Given the description of an element on the screen output the (x, y) to click on. 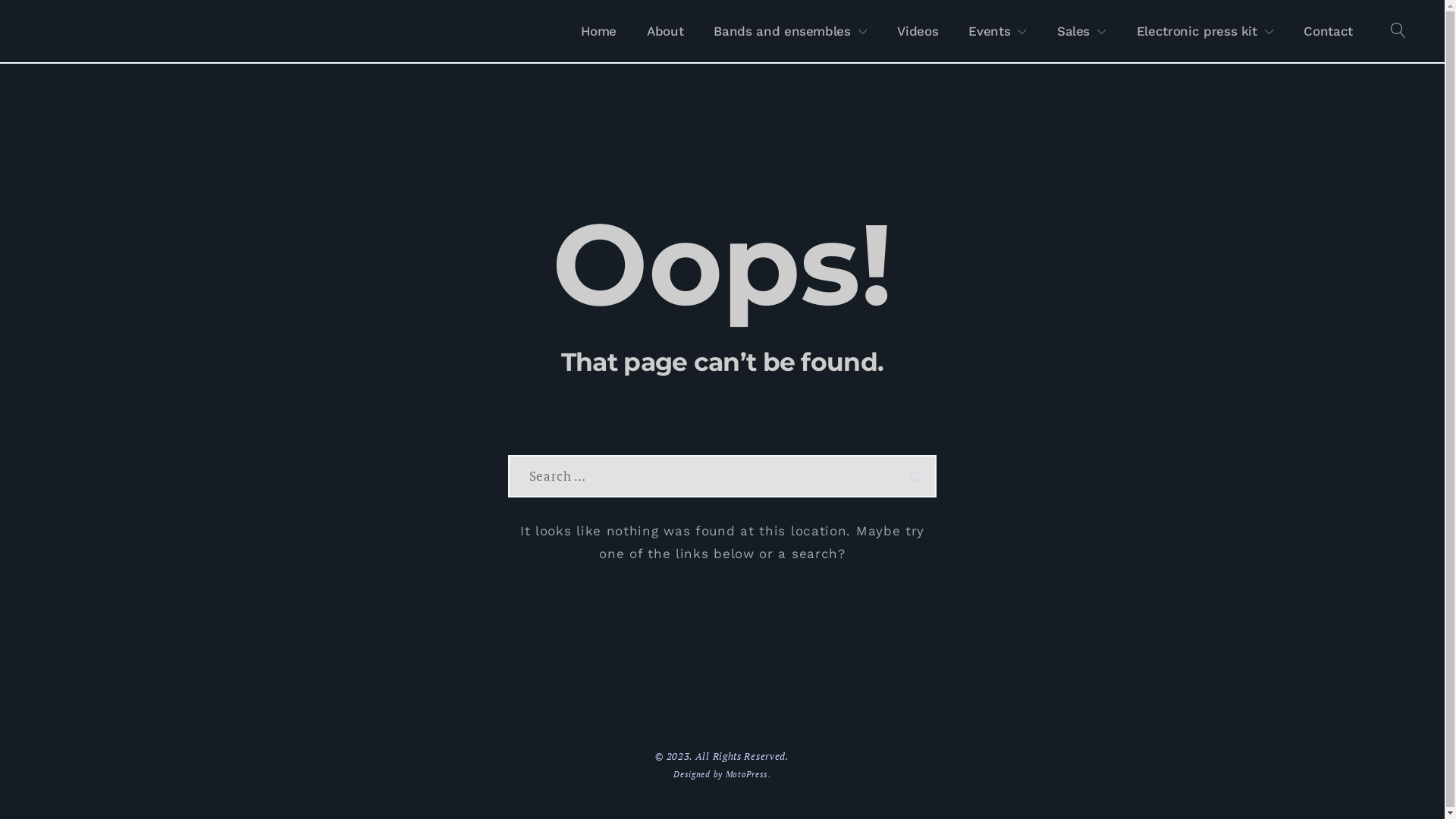
Electronic press kit Element type: text (1205, 30)
Bands and ensembles Element type: text (789, 30)
Home Element type: text (598, 30)
About Element type: text (664, 30)
OPEN SEARCH Element type: text (1398, 31)
Contact Element type: text (1328, 30)
Sales Element type: text (1081, 30)
SEARCH Element type: text (916, 475)
Events Element type: text (997, 30)
MotoPress Element type: text (746, 773)
Videos Element type: text (917, 30)
